Given the description of an element on the screen output the (x, y) to click on. 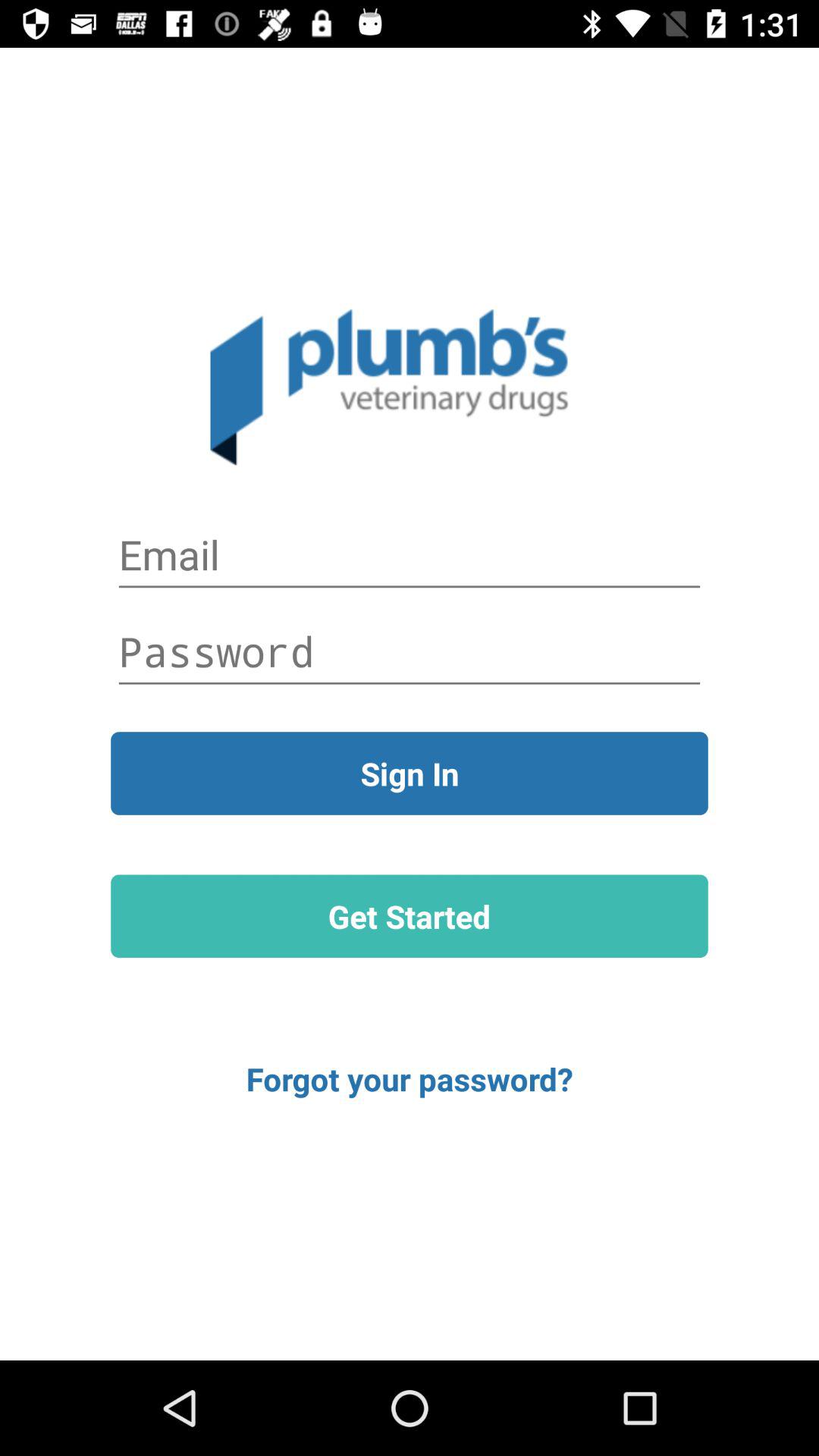
turn on item below the get started icon (409, 1078)
